Given the description of an element on the screen output the (x, y) to click on. 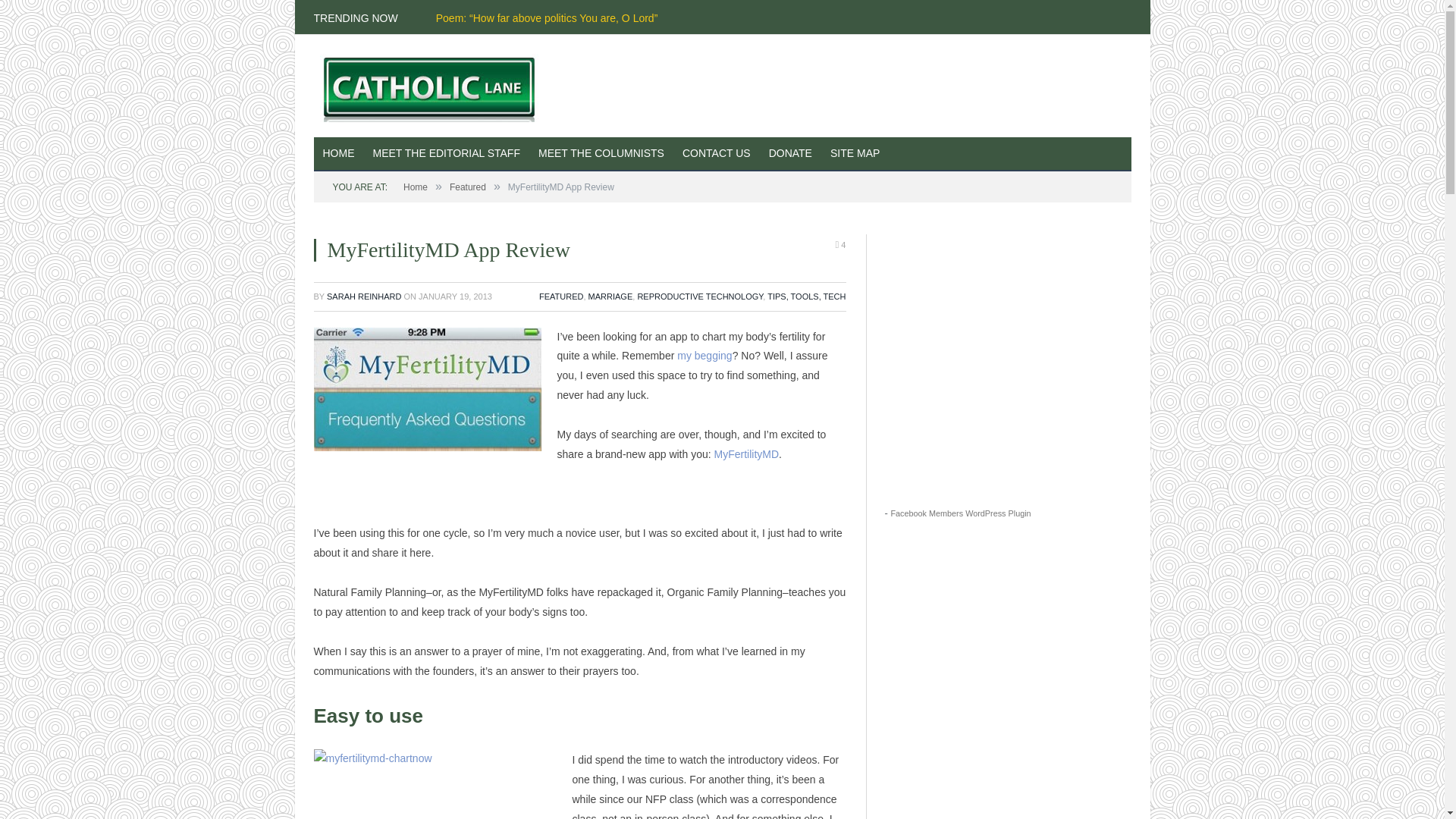
Featured (467, 186)
Home (415, 186)
MARRIAGE (610, 296)
SARAH REINHARD (363, 296)
my begging (704, 355)
CONTACT US (716, 154)
MEET THE EDITORIAL STAFF (446, 154)
Editors (446, 154)
SITE MAP (854, 154)
Catholic Lane (435, 85)
REPRODUCTIVE TECHNOLOGY (699, 296)
TIPS, TOOLS, TECH (806, 296)
Columnists (600, 154)
4 (840, 244)
DONATE (790, 154)
